Given the description of an element on the screen output the (x, y) to click on. 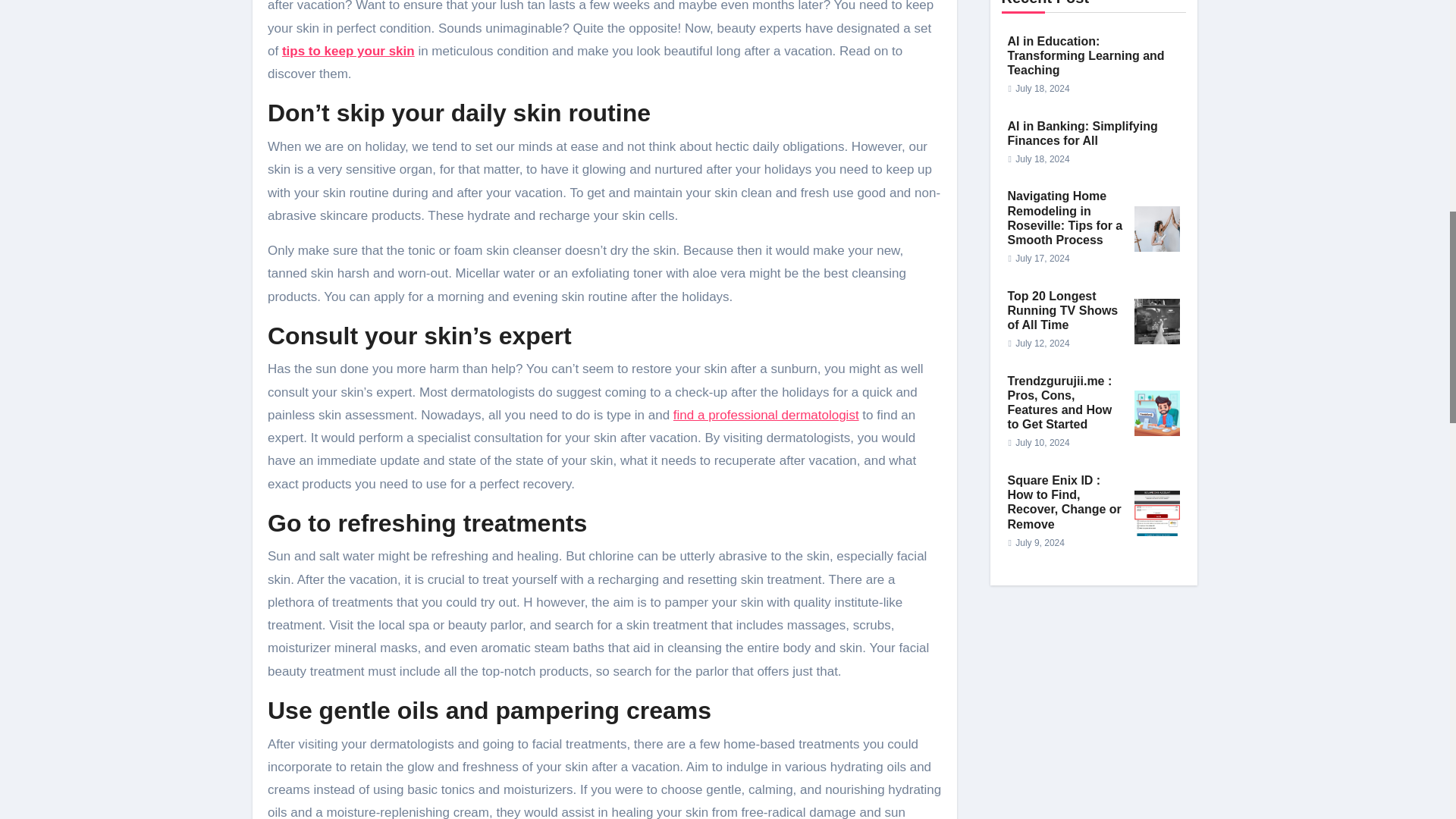
tips to keep your skin (348, 51)
find a professional dermatologist (765, 414)
